Given the description of an element on the screen output the (x, y) to click on. 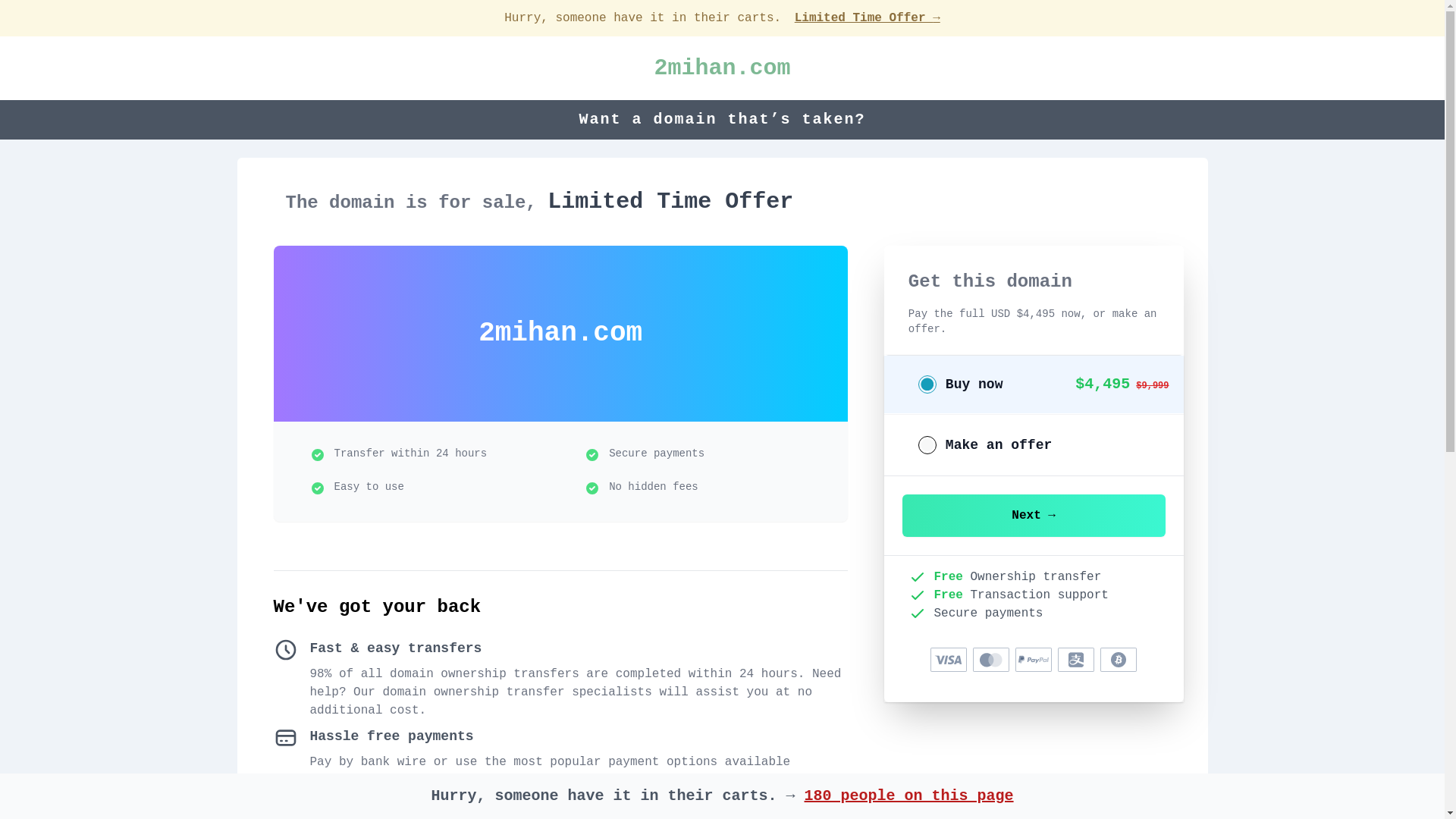
2mihan.com Element type: text (721, 67)
2mihan.com Element type: text (721, 68)
